Given the description of an element on the screen output the (x, y) to click on. 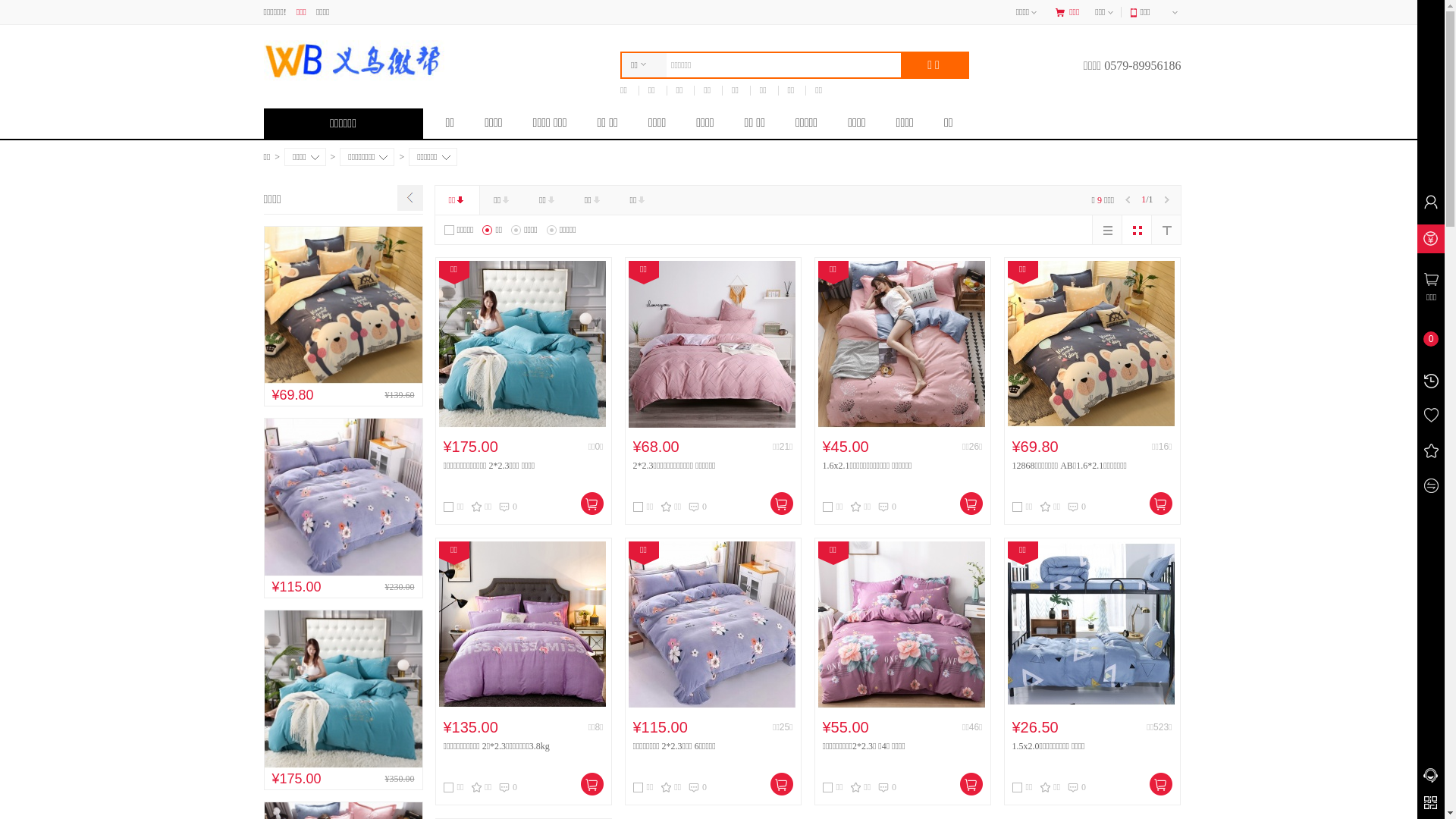
0 Element type: text (507, 786)
0 Element type: text (887, 506)
0 Element type: text (1076, 786)
0 Element type: text (507, 506)
0 Element type: text (887, 786)
0 Element type: text (697, 506)
0 Element type: text (1076, 506)
0 Element type: text (697, 786)
